Given the description of an element on the screen output the (x, y) to click on. 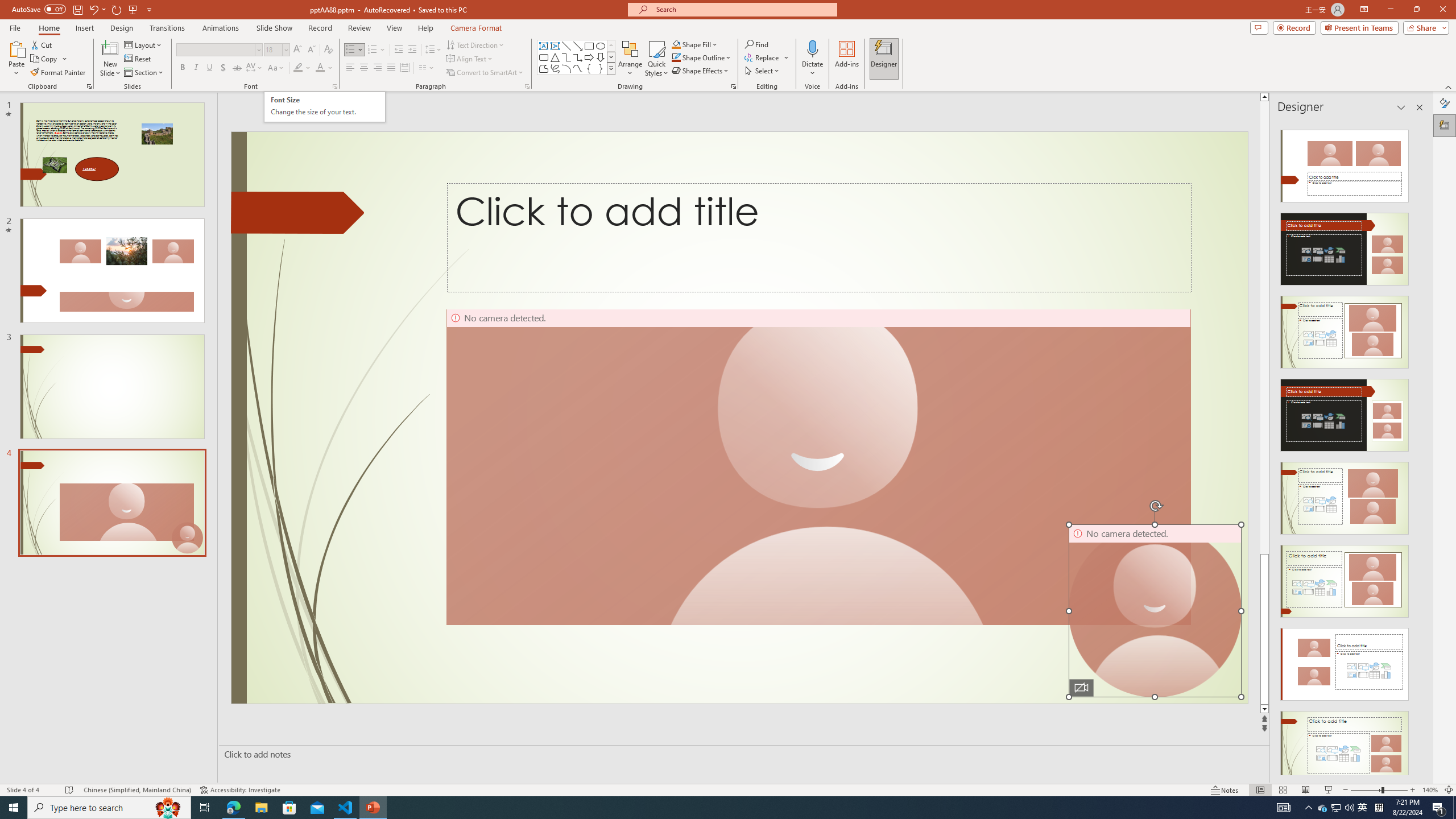
Shape Fill Aqua, Accent 2 (675, 44)
